Given the description of an element on the screen output the (x, y) to click on. 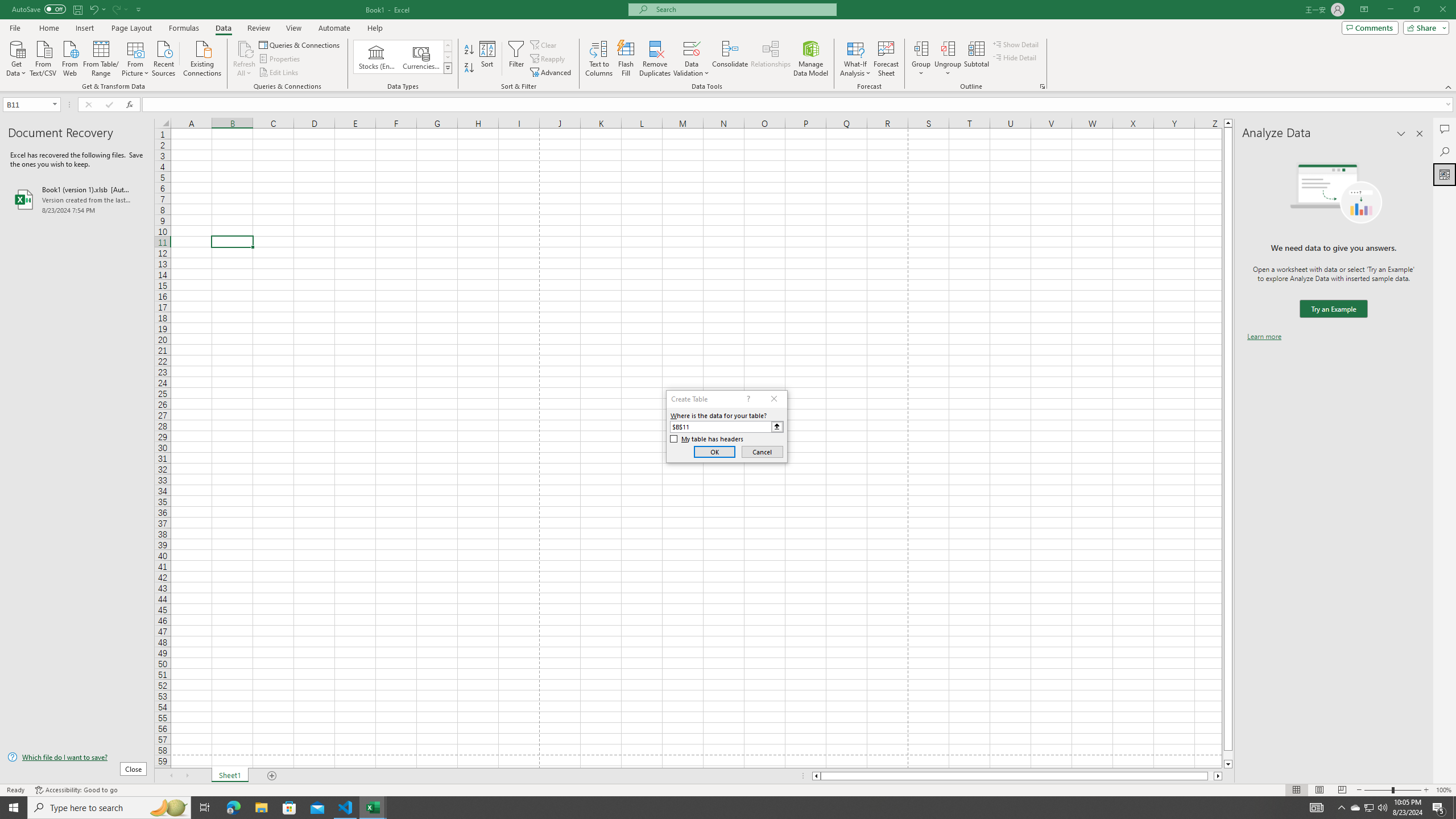
Analyze Data (1444, 173)
Sort Z to A (469, 67)
Manage Data Model (810, 58)
Flash Fill (625, 58)
Properties (280, 58)
Sort... (487, 58)
Sort A to Z (469, 49)
Learn more (1264, 336)
